Given the description of an element on the screen output the (x, y) to click on. 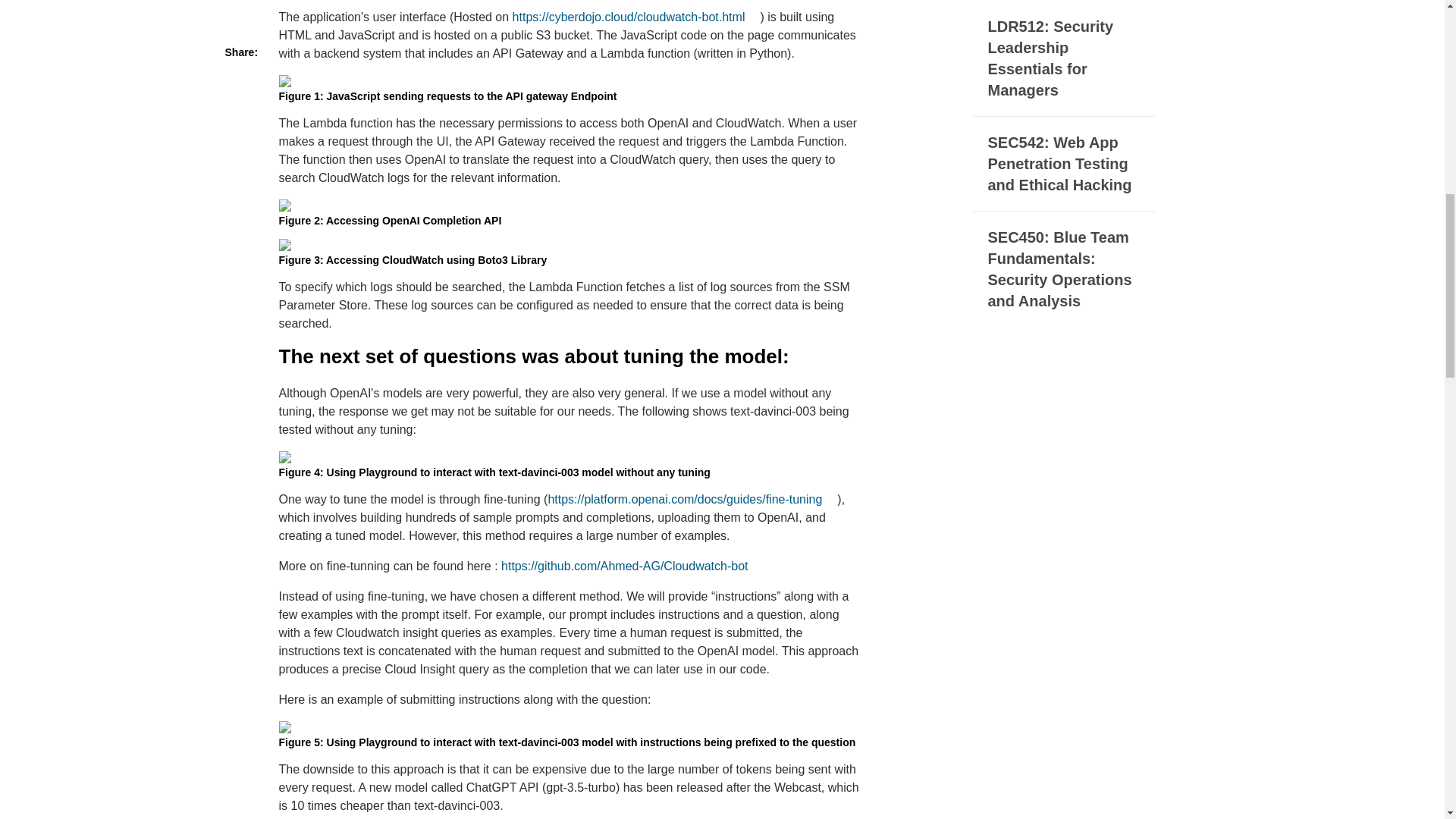
LDR512: Security Leadership Essentials for Managers (1063, 58)
SEC542: Web App Penetration Testing and Ethical Hacking (1063, 163)
